Given the description of an element on the screen output the (x, y) to click on. 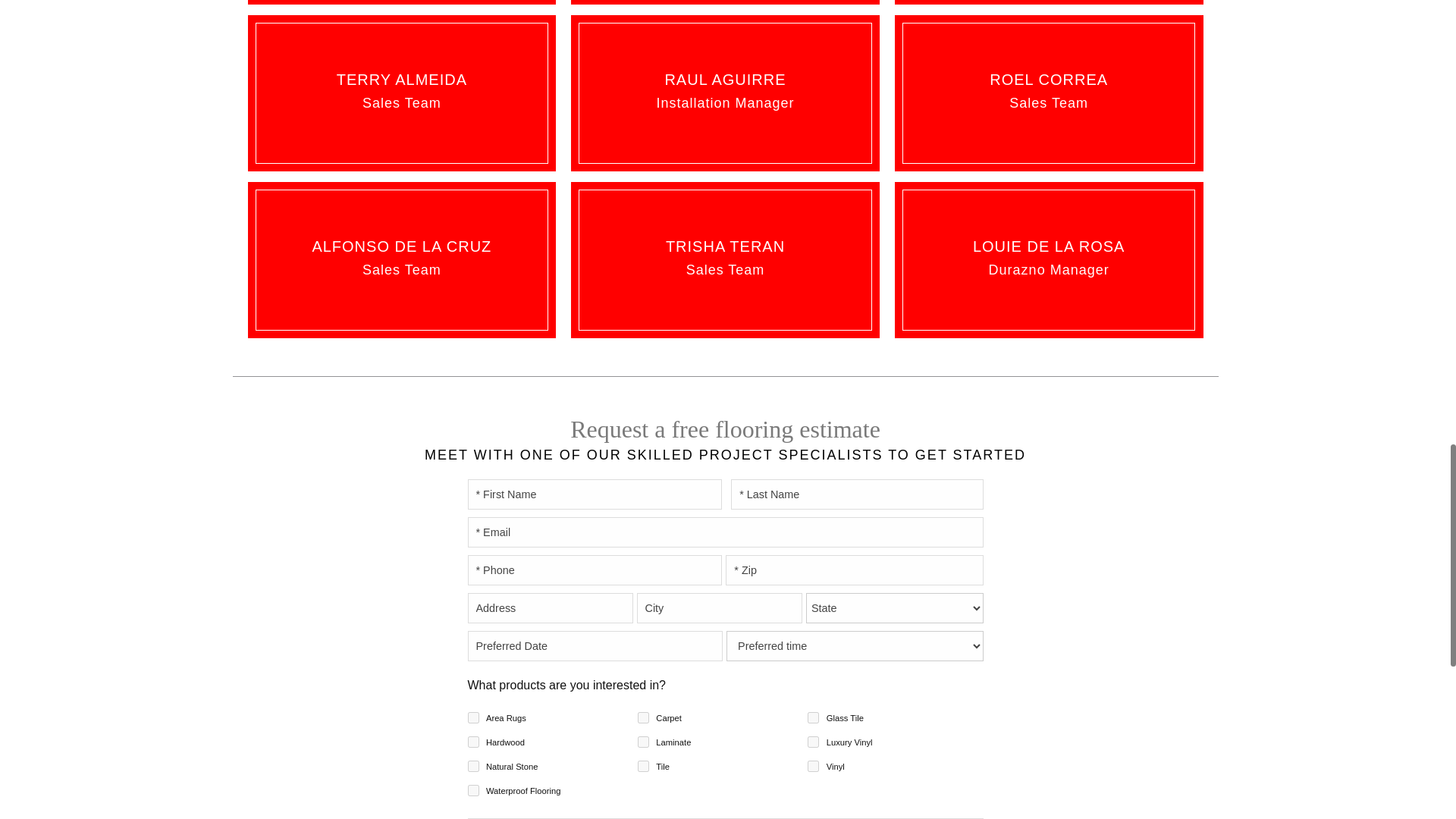
tile (643, 766)
laminate (643, 741)
vinyl (813, 766)
hardwood (473, 741)
carpet (643, 717)
